Given the description of an element on the screen output the (x, y) to click on. 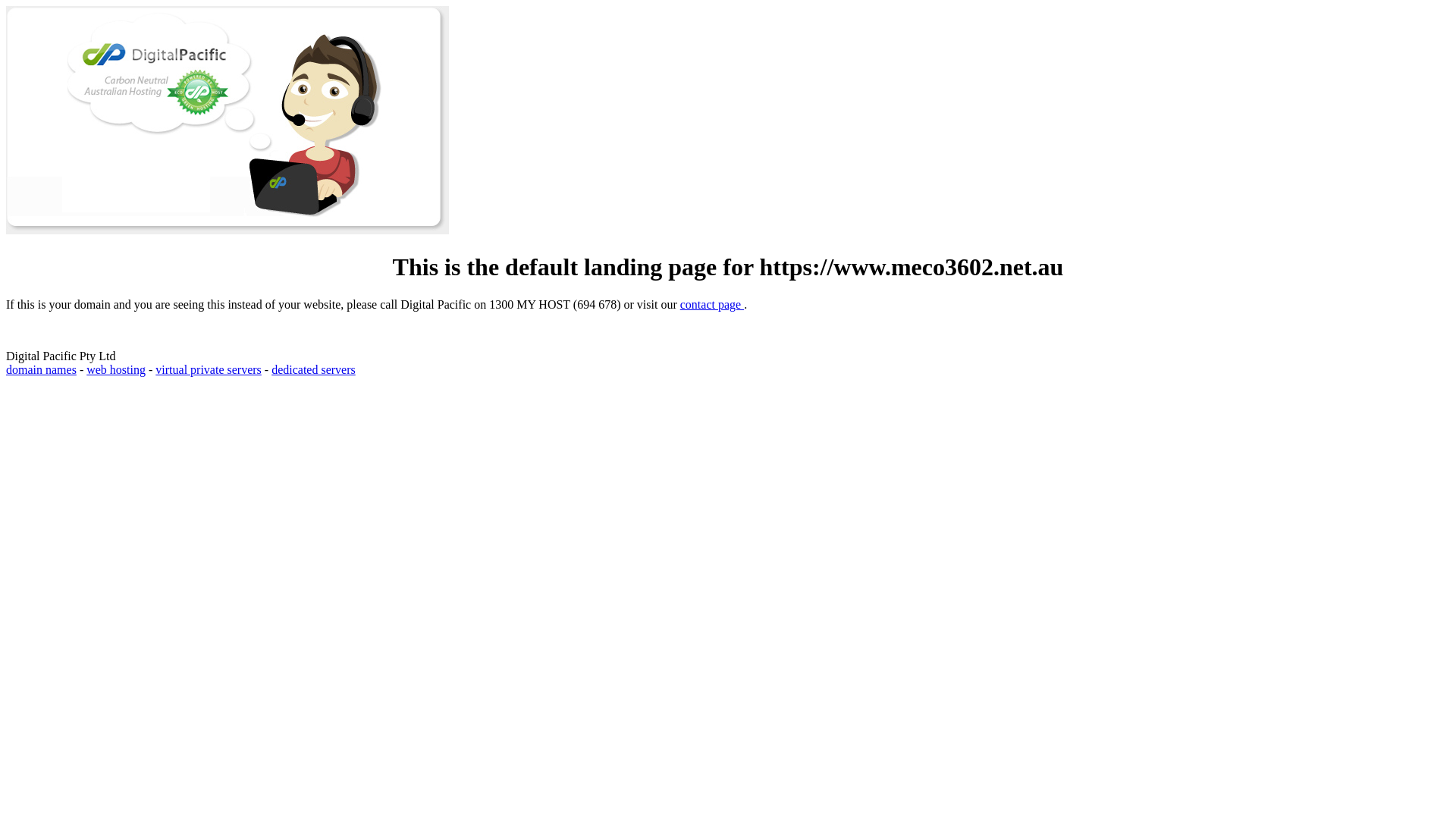
contact page Element type: text (711, 304)
dedicated servers Element type: text (313, 369)
virtual private servers Element type: text (208, 369)
domain names Element type: text (41, 369)
web hosting Element type: text (115, 369)
